Given the description of an element on the screen output the (x, y) to click on. 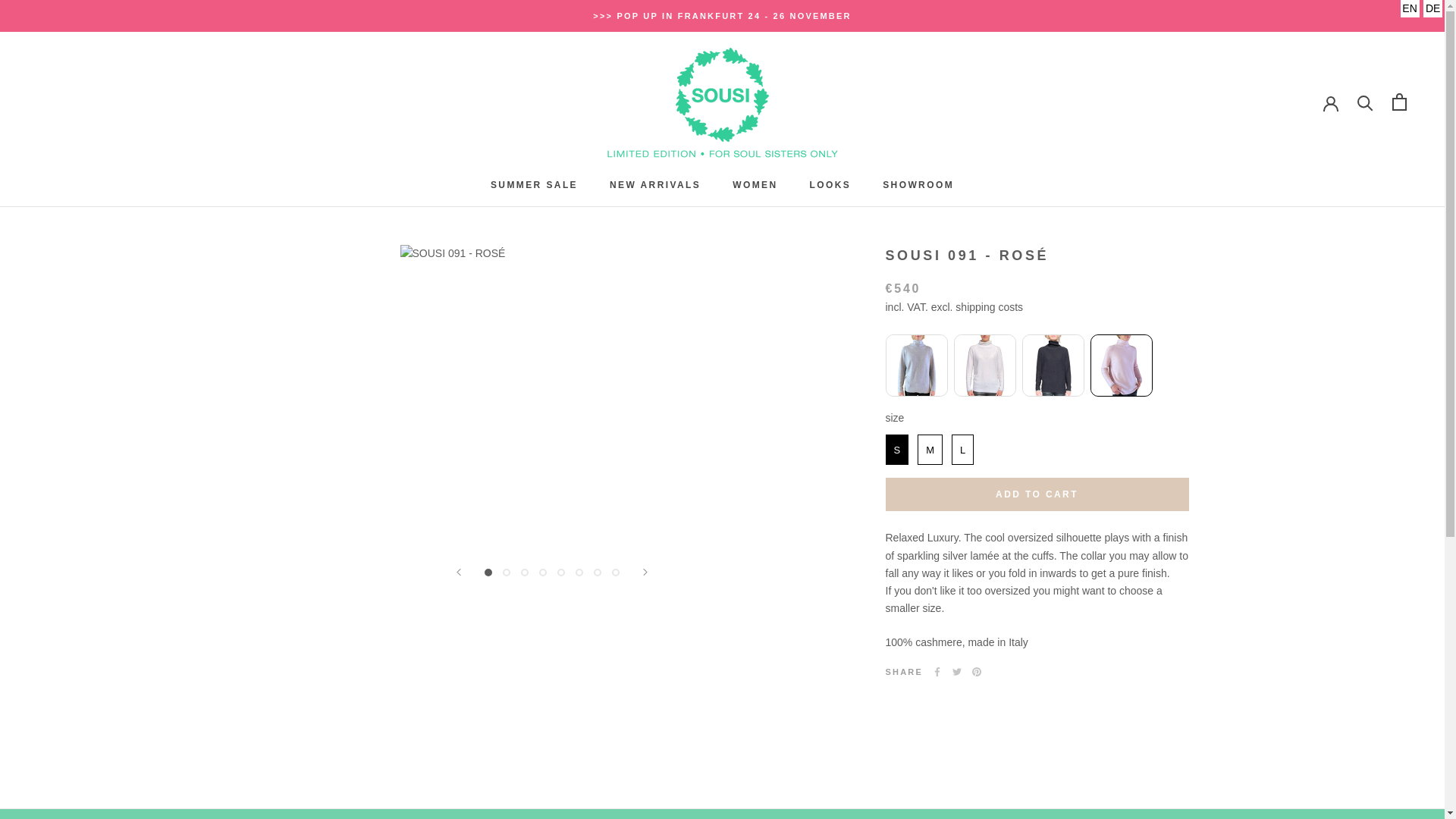
WOMEN (655, 184)
